Given the description of an element on the screen output the (x, y) to click on. 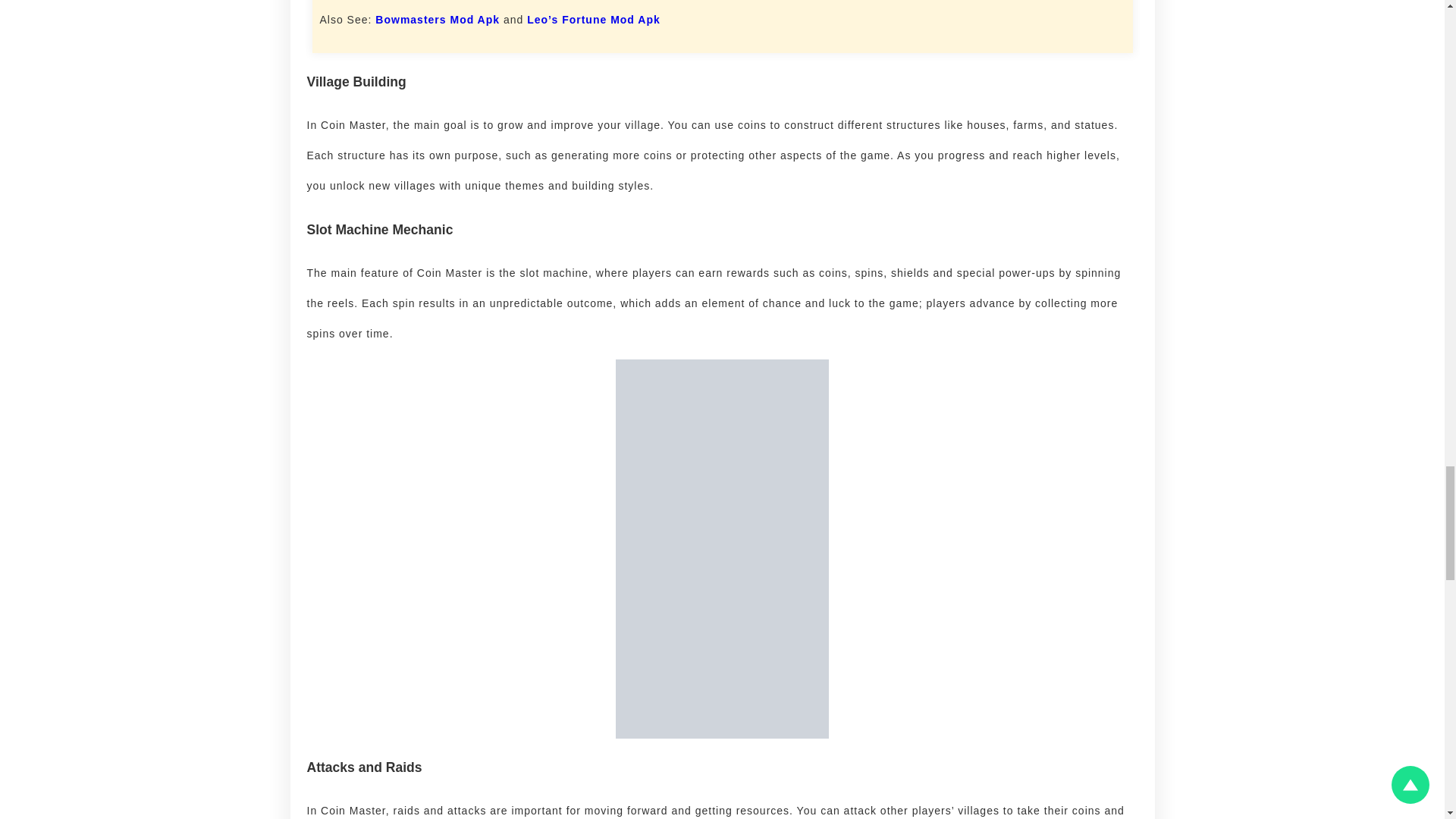
Bowmasters Mod Apk (437, 19)
